Given the description of an element on the screen output the (x, y) to click on. 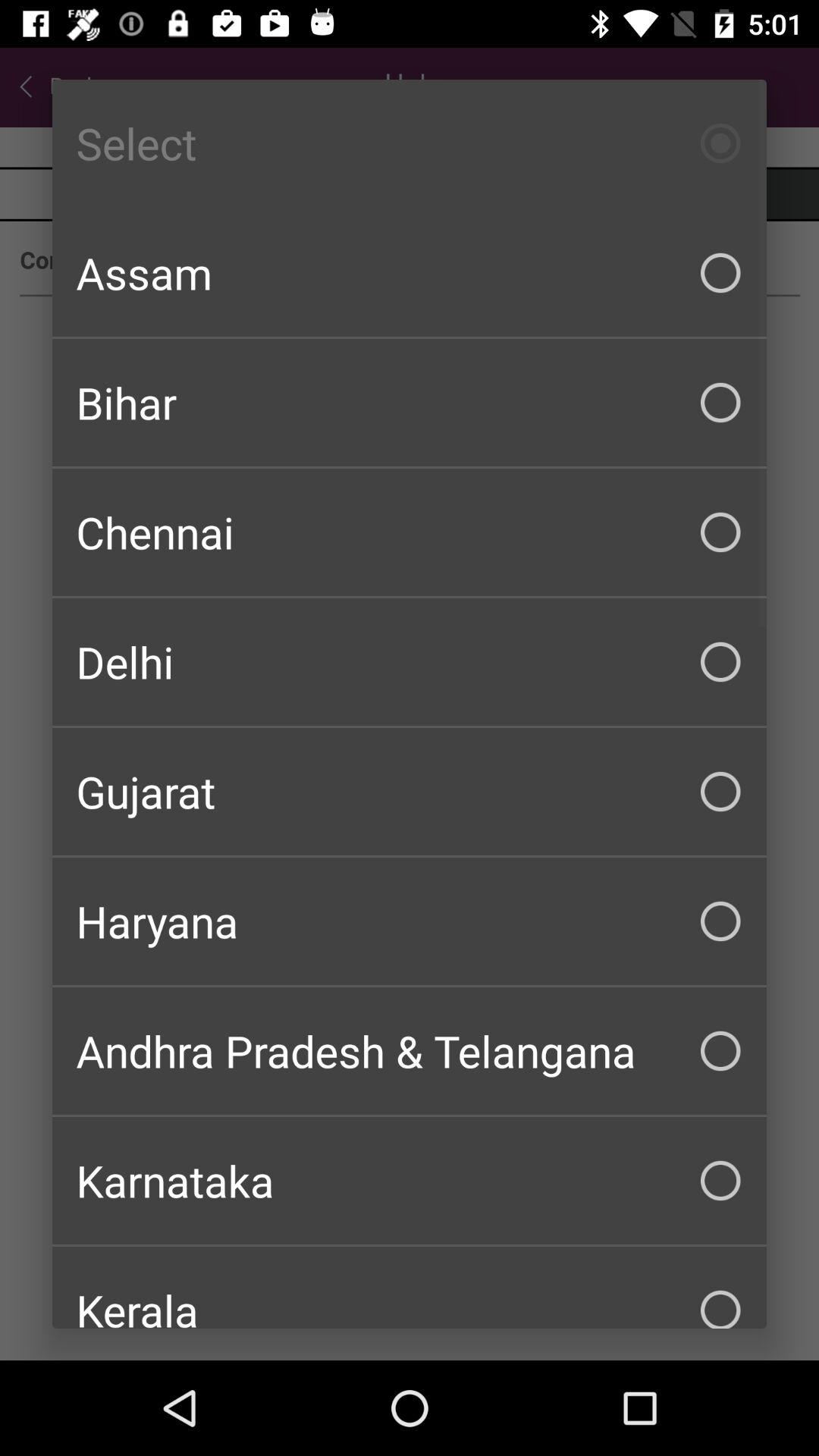
click checkbox below the delhi (409, 791)
